Given the description of an element on the screen output the (x, y) to click on. 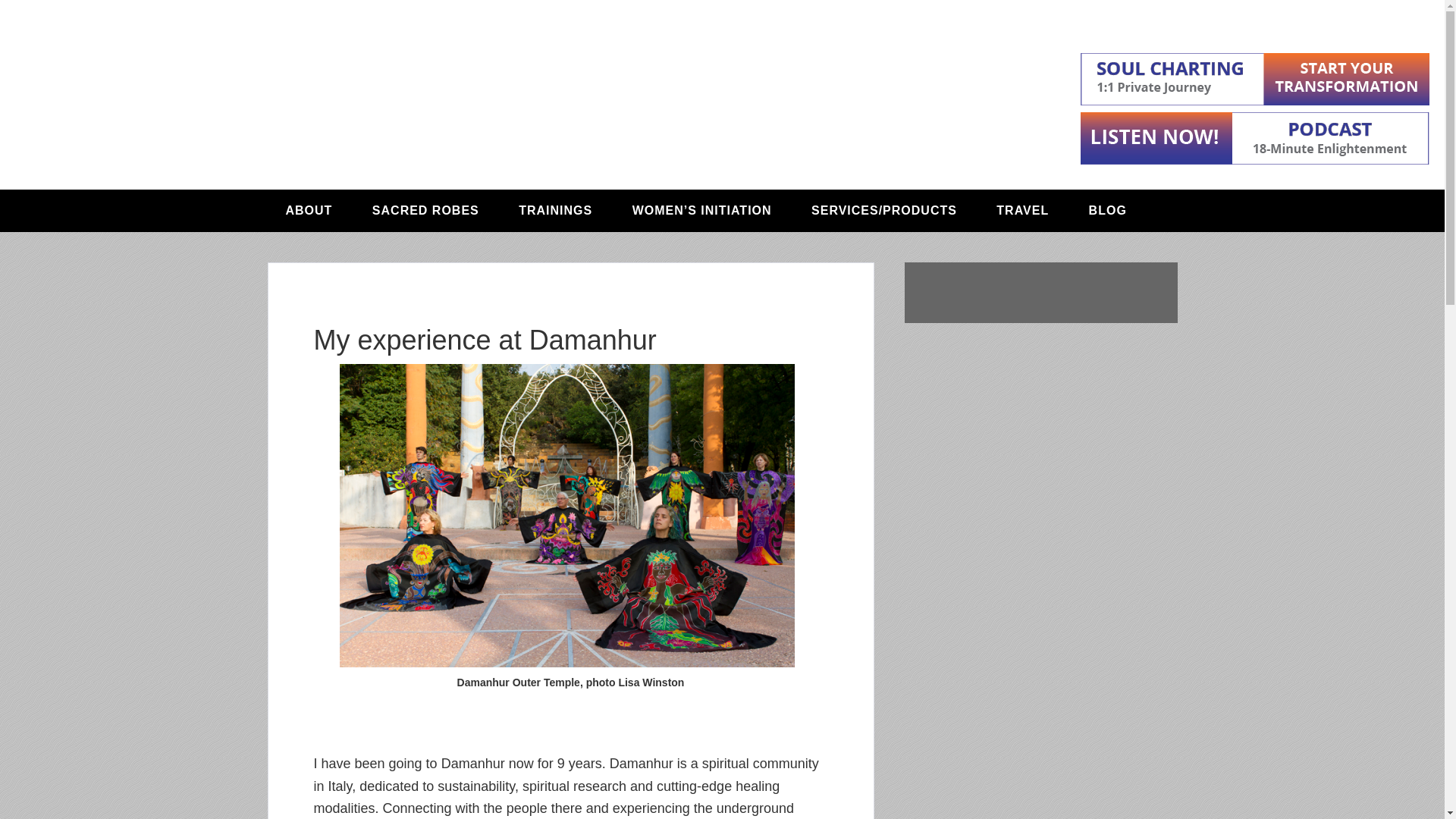
TRAININGS (555, 210)
SACRED ROBES (425, 210)
Megan Wagner (494, 83)
ABOUT (308, 210)
